Given the description of an element on the screen output the (x, y) to click on. 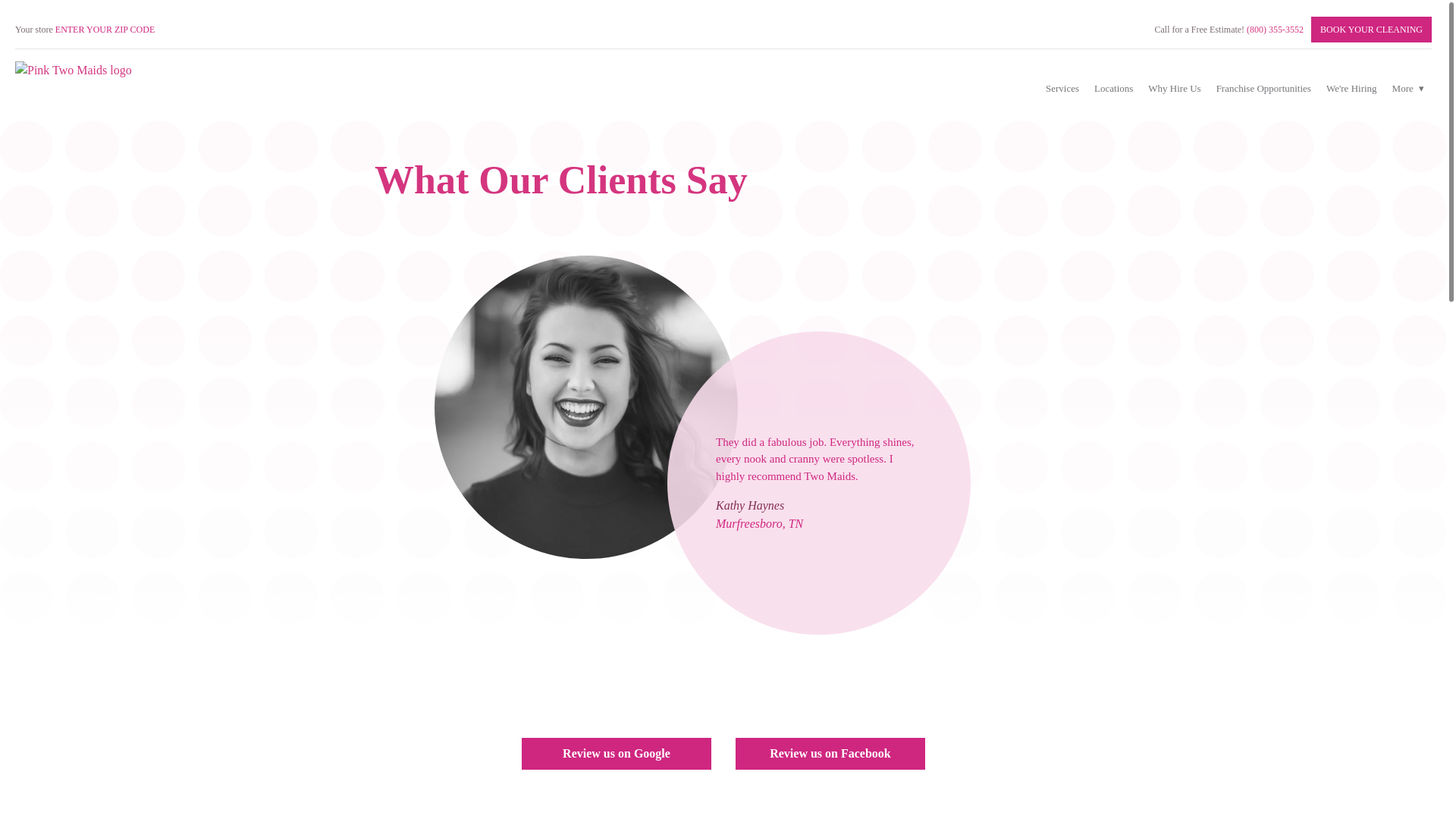
Locations (1113, 88)
Review us on Facebook (829, 753)
Franchise Opportunities (1263, 88)
More (1407, 88)
Why Hire Us (1174, 88)
Review us on Google (616, 753)
We're Hiring (1351, 88)
BOOK YOUR CLEANING (1371, 29)
Services (1062, 88)
